Given the description of an element on the screen output the (x, y) to click on. 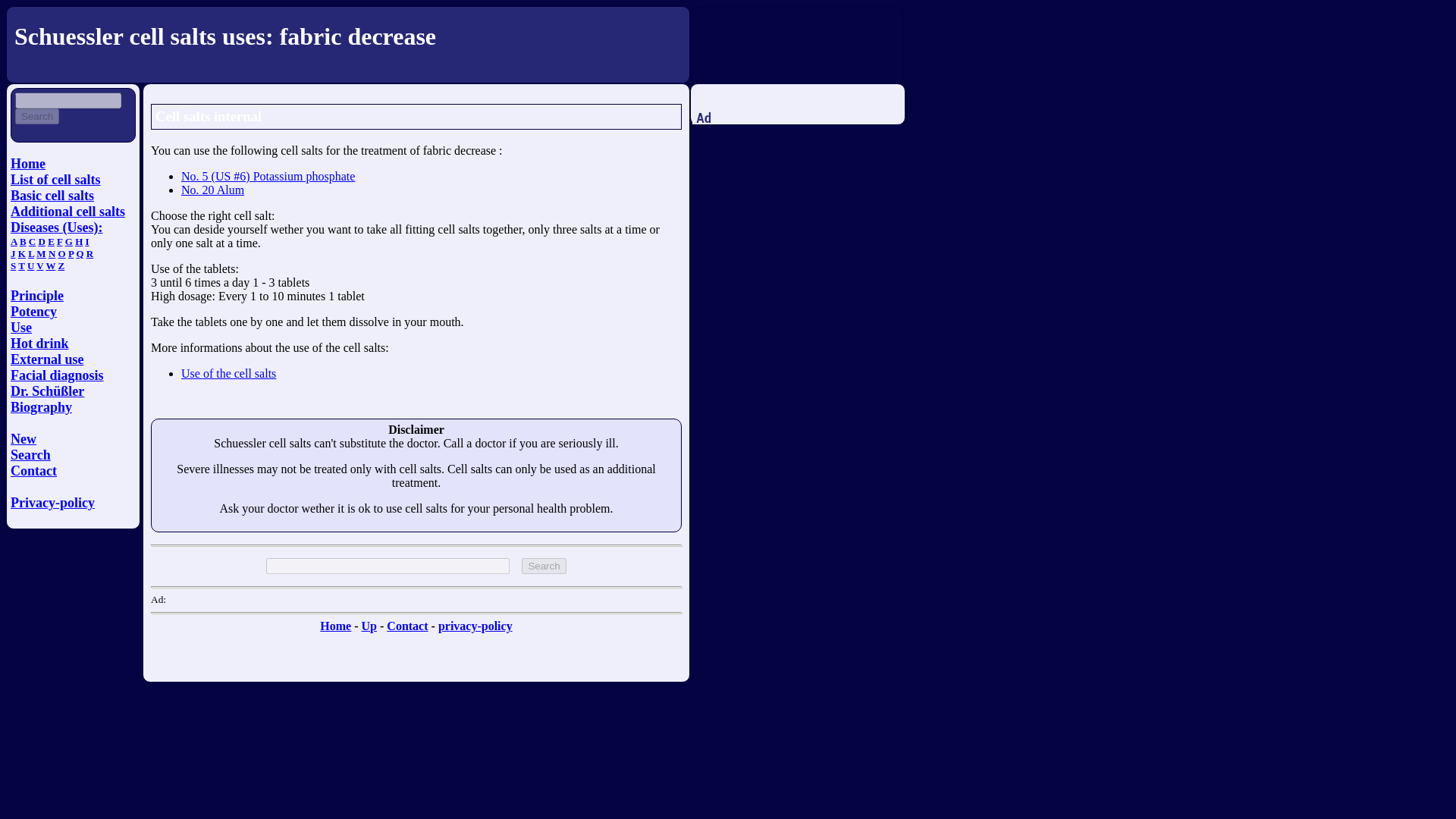
External use (47, 359)
List of cell salts (55, 179)
Hot drink (39, 343)
Basic cell salts (52, 195)
Search (543, 565)
Additional cell salts (67, 211)
Search (36, 116)
New (23, 438)
Search (36, 116)
Facial diagnosis (56, 375)
Use (21, 327)
Contact (33, 470)
Home (27, 163)
Potency (33, 311)
Principle (37, 295)
